Given the description of an element on the screen output the (x, y) to click on. 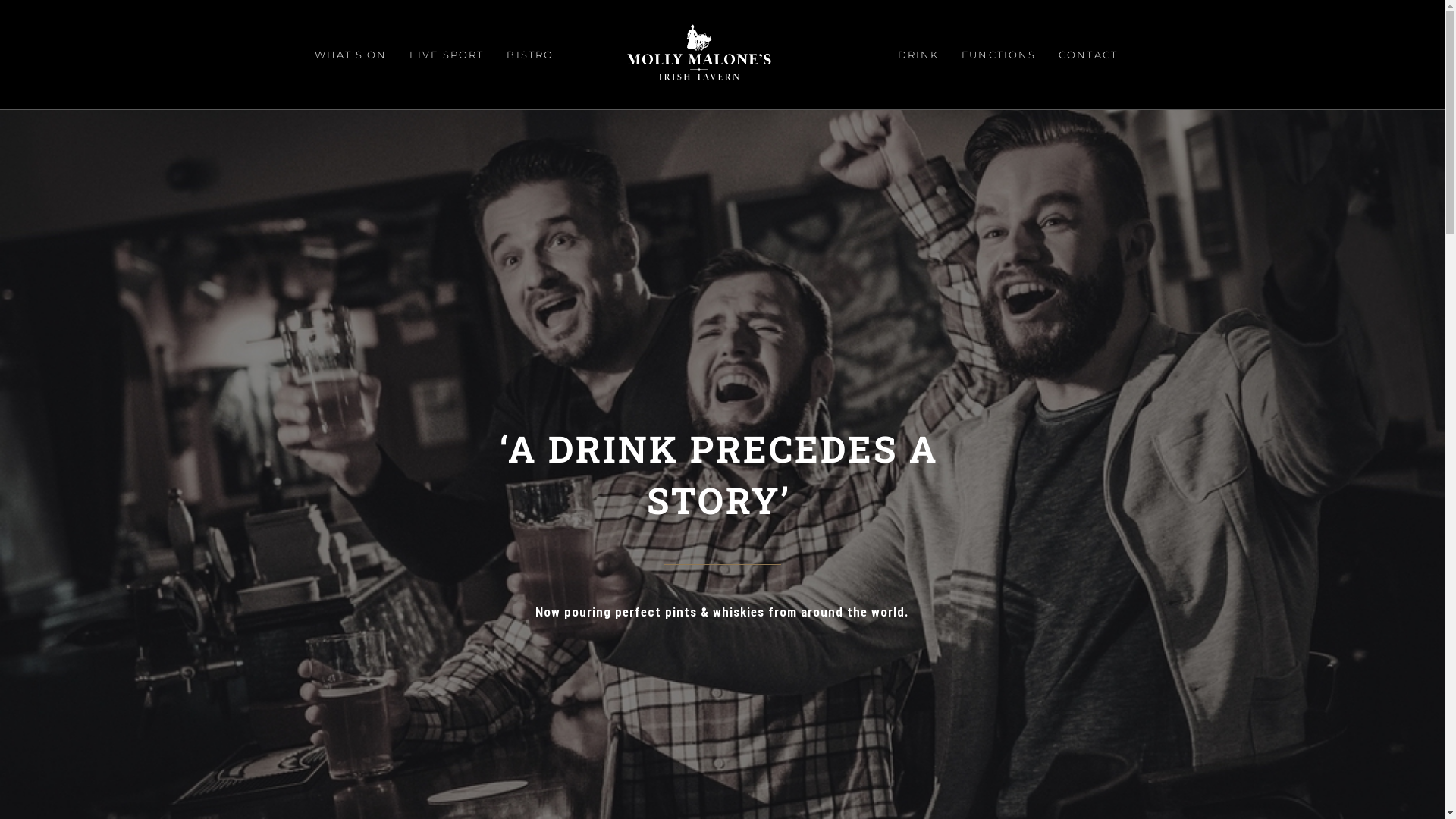
LIVE SPORT Element type: text (446, 54)
WHAT'S ON Element type: text (350, 54)
DRINK Element type: text (918, 54)
CONTACT Element type: text (1087, 54)
FUNCTIONS Element type: text (998, 54)
BISTRO Element type: text (529, 54)
